Given the description of an element on the screen output the (x, y) to click on. 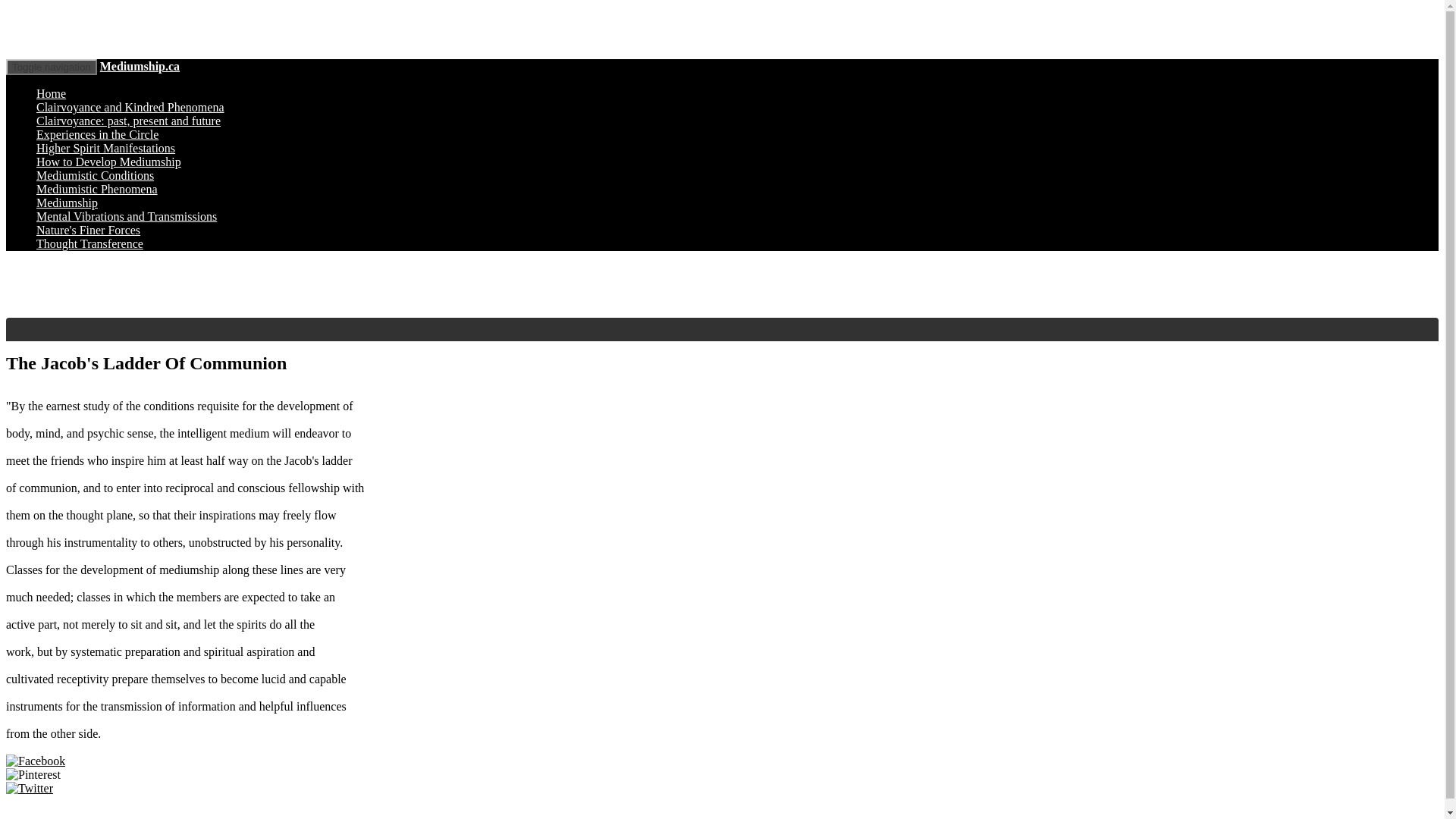
Experiences in the Circle (97, 133)
Nature's Finer Forces (87, 229)
How to Develop Mediumship (108, 161)
Higher Spirit Manifestations (105, 147)
Mediumship (66, 202)
Toggle navigation (51, 66)
Home (50, 92)
Mental Vibrations and Transmissions (126, 215)
Mediumship.ca (139, 65)
Mediumistic Phenomena (96, 188)
Clairvoyance and Kindred Phenomena (130, 106)
Mediumistic Conditions (95, 174)
Thought Transference (89, 243)
Clairvoyance: past, present and future (128, 120)
